Given the description of an element on the screen output the (x, y) to click on. 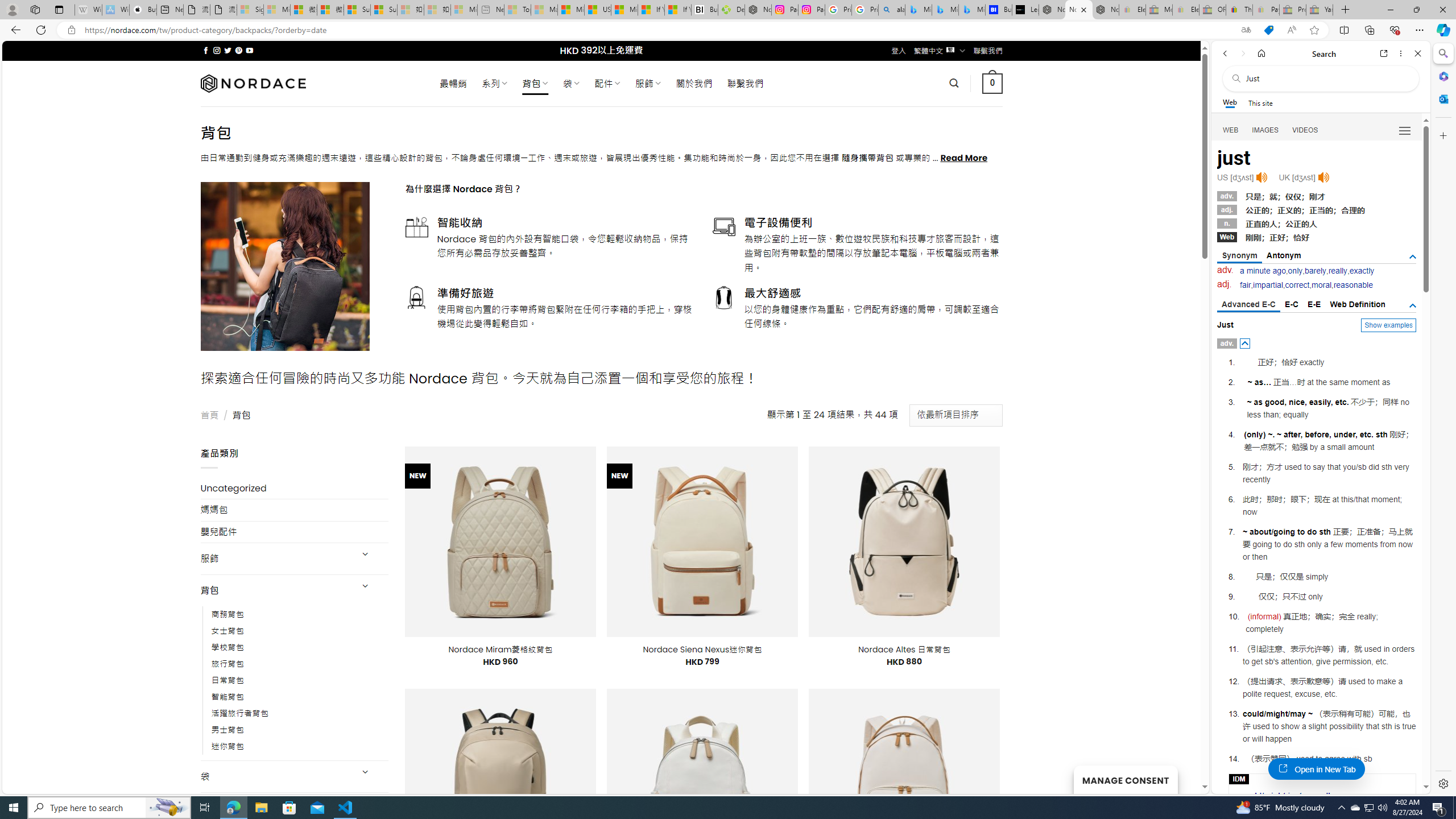
Press Room - eBay Inc. - Sleeping (1292, 9)
E-C (1291, 304)
MANAGE CONSENT (1125, 779)
AutomationID: posbtn_0 (1245, 343)
Buy iPad - Apple (143, 9)
Follow on Pinterest (237, 50)
